Given the description of an element on the screen output the (x, y) to click on. 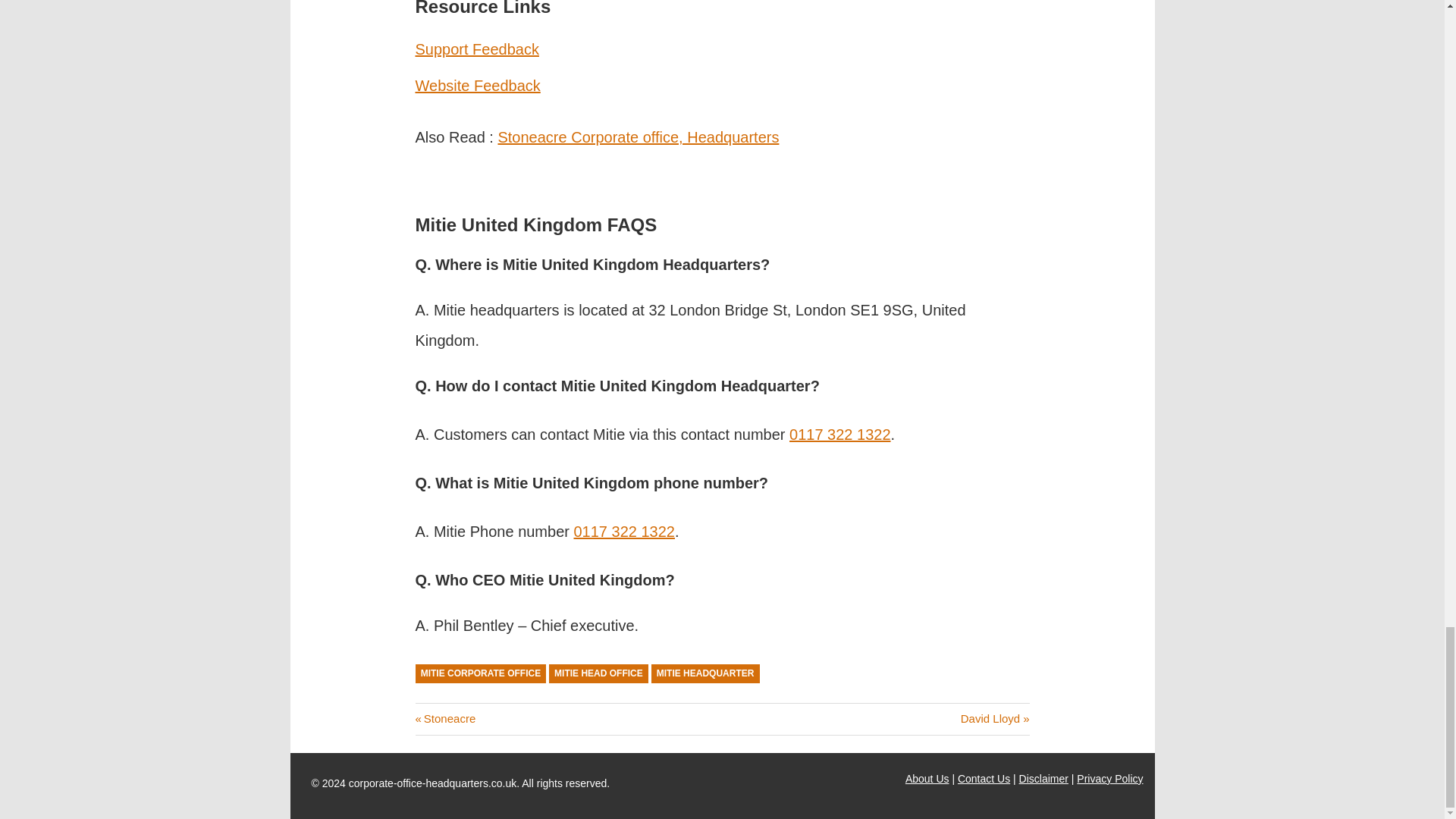
MITIE CORPORATE OFFICE (480, 673)
Contact Us (984, 778)
About Us (927, 778)
0117 322 1322 (839, 434)
Disclaimer (1043, 778)
Website Feedback (445, 717)
MITIE HEAD OFFICE (477, 85)
Stoneacre Corporate office, Headquarters (597, 673)
Support Feedback (637, 136)
